Given the description of an element on the screen output the (x, y) to click on. 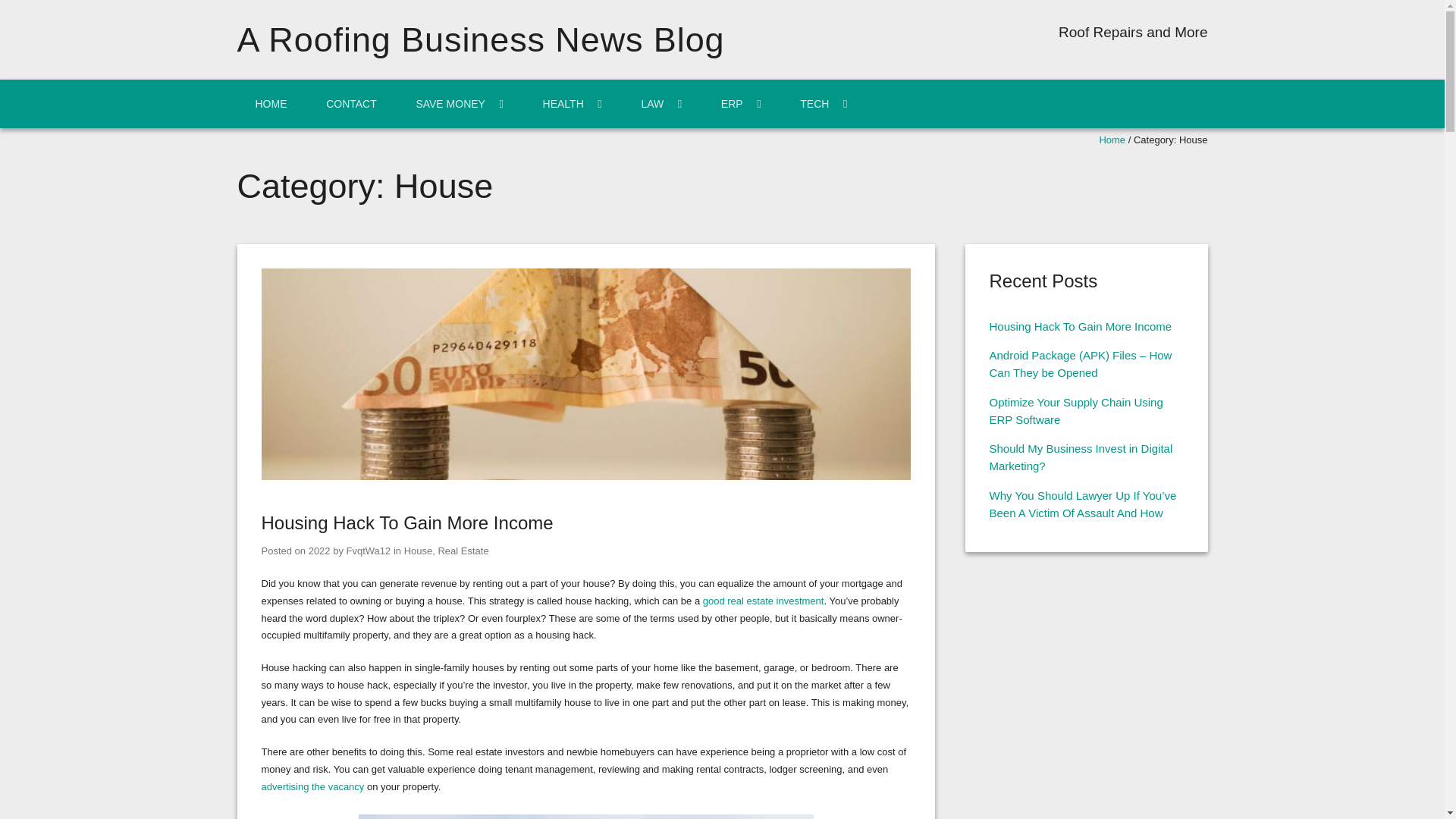
CONTACT (350, 103)
HEALTH (572, 103)
Housing Hack To Gain More Income (585, 476)
View all posts by FvqtWa12 (368, 550)
HOME (269, 103)
A Roofing Business News Blog (479, 39)
Housing Hack To Gain More Income (406, 522)
SAVE MONEY (459, 103)
ERP (740, 103)
TECH (822, 103)
LAW (661, 103)
Housing Hack To Gain More Income (319, 550)
